Given the description of an element on the screen output the (x, y) to click on. 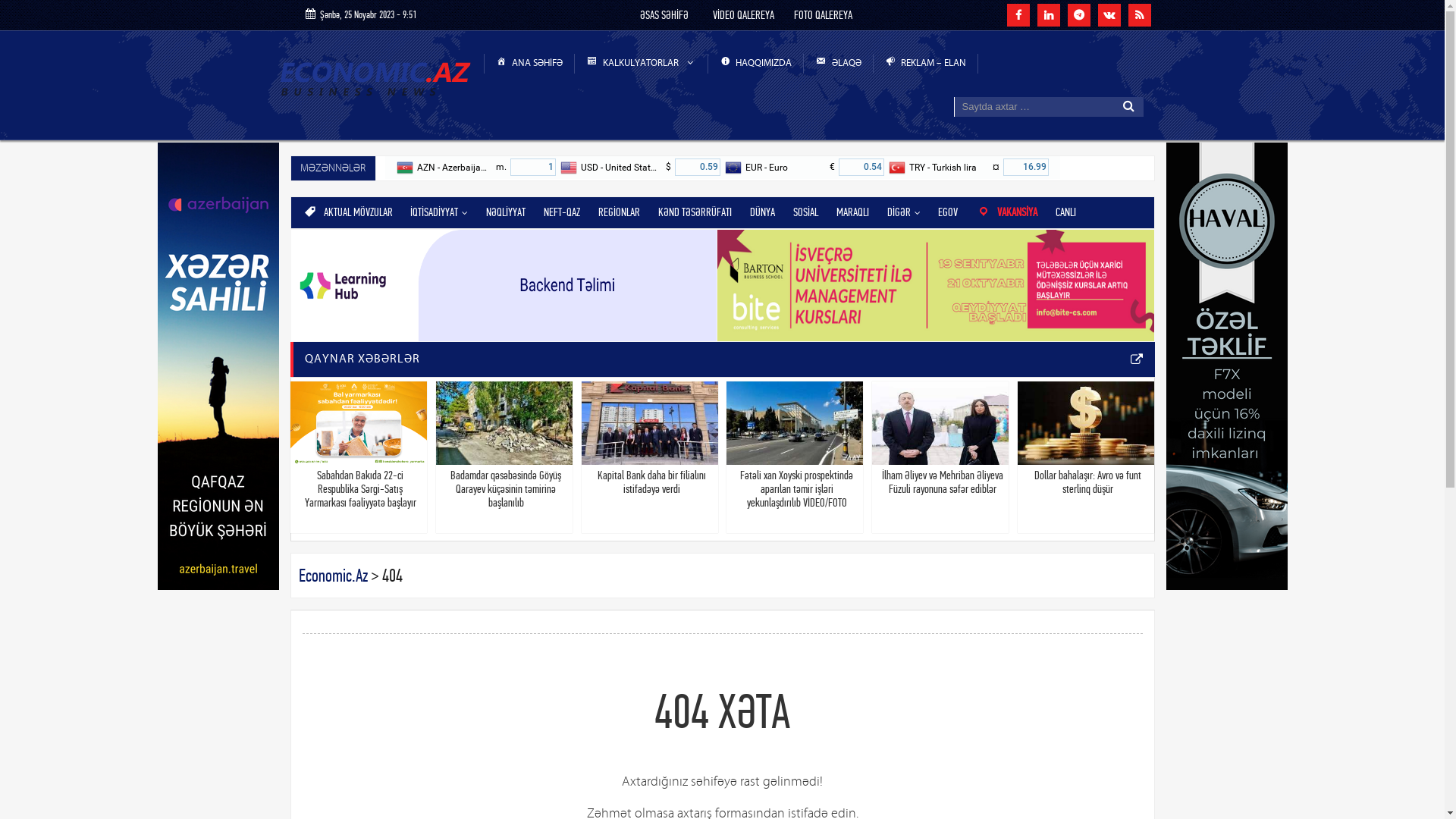
United States dollar Element type: hover (697, 166)
United States dollar Element type: hover (569, 167)
Euro Element type: hover (861, 166)
Turkish lira Element type: hover (897, 167)
Turkish lira Element type: hover (1025, 166)
NEFT-QAZ Element type: text (561, 211)
Azerbaijani manat Element type: hover (532, 166)
Euro Element type: hover (733, 167)
FOTO QALEREYA Element type: text (823, 15)
KALKULYATORLAR Element type: text (641, 63)
EGOV Element type: text (947, 211)
Azerbaijani manat Element type: hover (404, 167)
CANLI Element type: text (1065, 211)
HAQQIMIZDA Element type: text (756, 63)
SOSIAL Element type: text (805, 211)
REGIONLAR Element type: text (618, 211)
VAKANSIYA Element type: text (1006, 212)
MARAQLI Element type: text (852, 211)
Economic.Az Element type: text (332, 575)
